Given the description of an element on the screen output the (x, y) to click on. 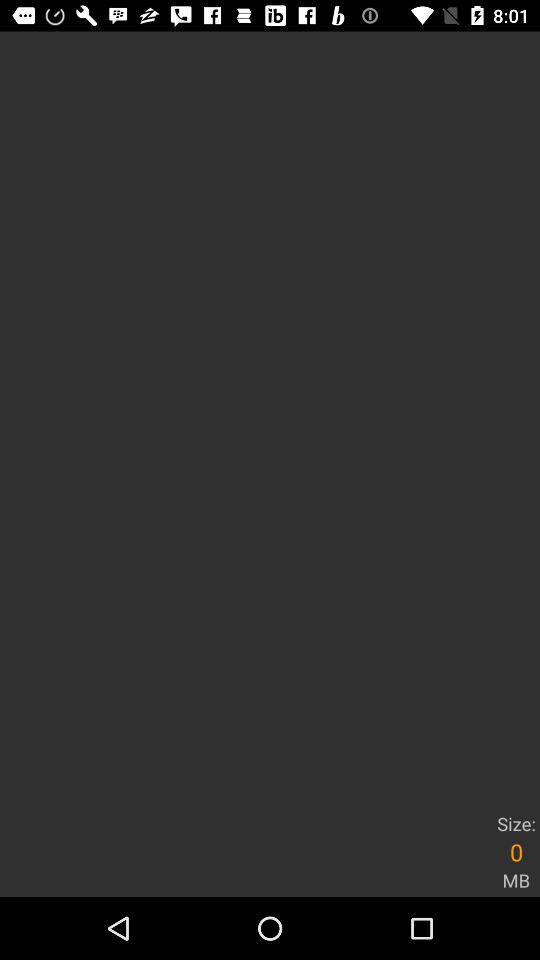
turn on the icon at the center (270, 419)
